Given the description of an element on the screen output the (x, y) to click on. 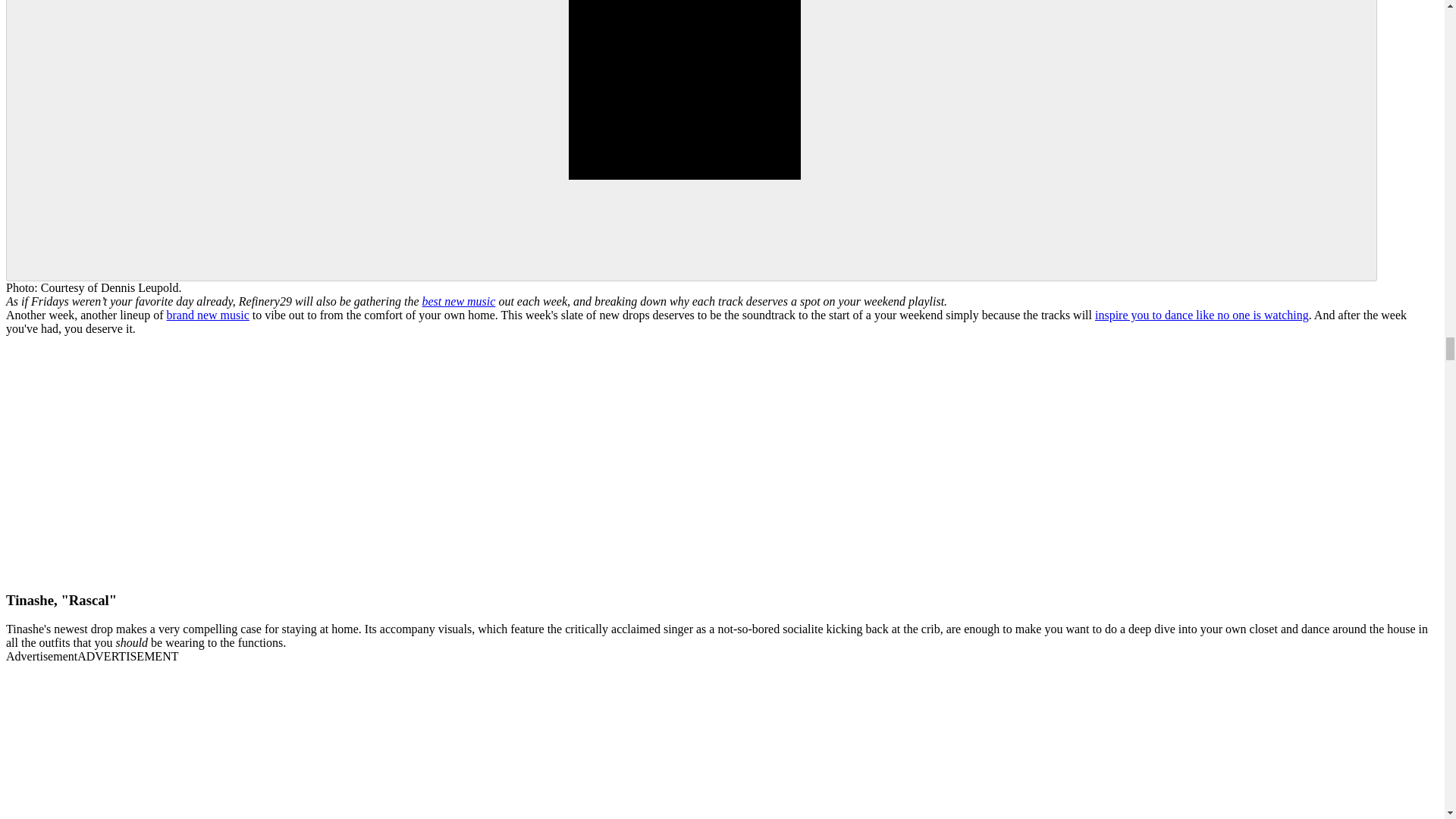
brand new music (206, 314)
best new music (459, 300)
inspire you to dance like no one is watching (1201, 314)
